Given the description of an element on the screen output the (x, y) to click on. 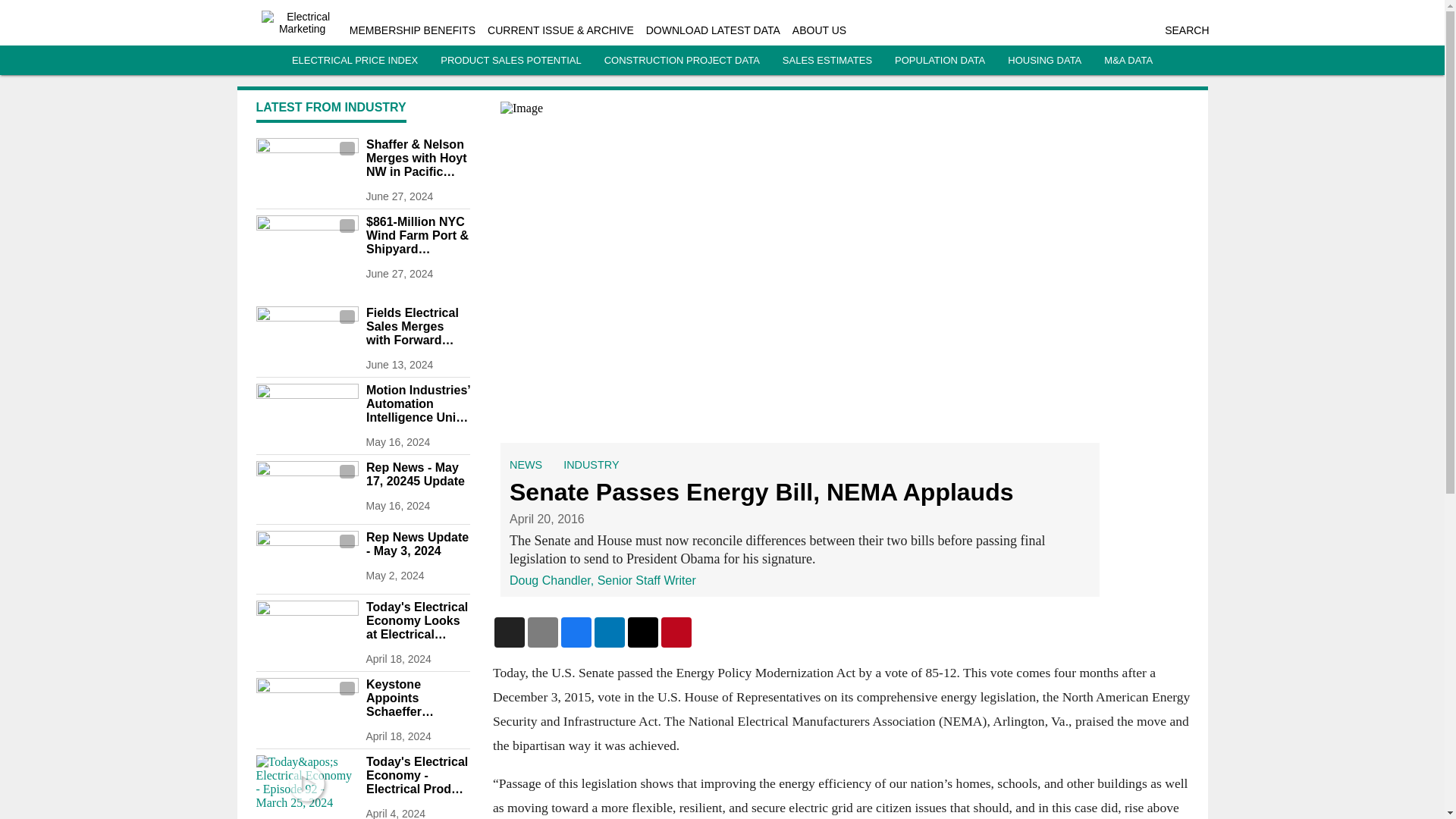
ABOUT US (818, 30)
POPULATION DATA (940, 60)
INDUSTRY (590, 464)
Rep News Update - May 3, 2024 (417, 543)
HOUSING DATA (1044, 60)
Rep News - May 17, 20245 Update (417, 474)
Fields Electrical Sales Merges with Forward Solutions (417, 326)
SEARCH (1186, 30)
SALES ESTIMATES (827, 60)
NEWS (525, 464)
ELECTRICAL PRICE INDEX (354, 60)
MEMBERSHIP BENEFITS (412, 30)
Doug Chandler, Senior Staff Writer (602, 580)
